Given the description of an element on the screen output the (x, y) to click on. 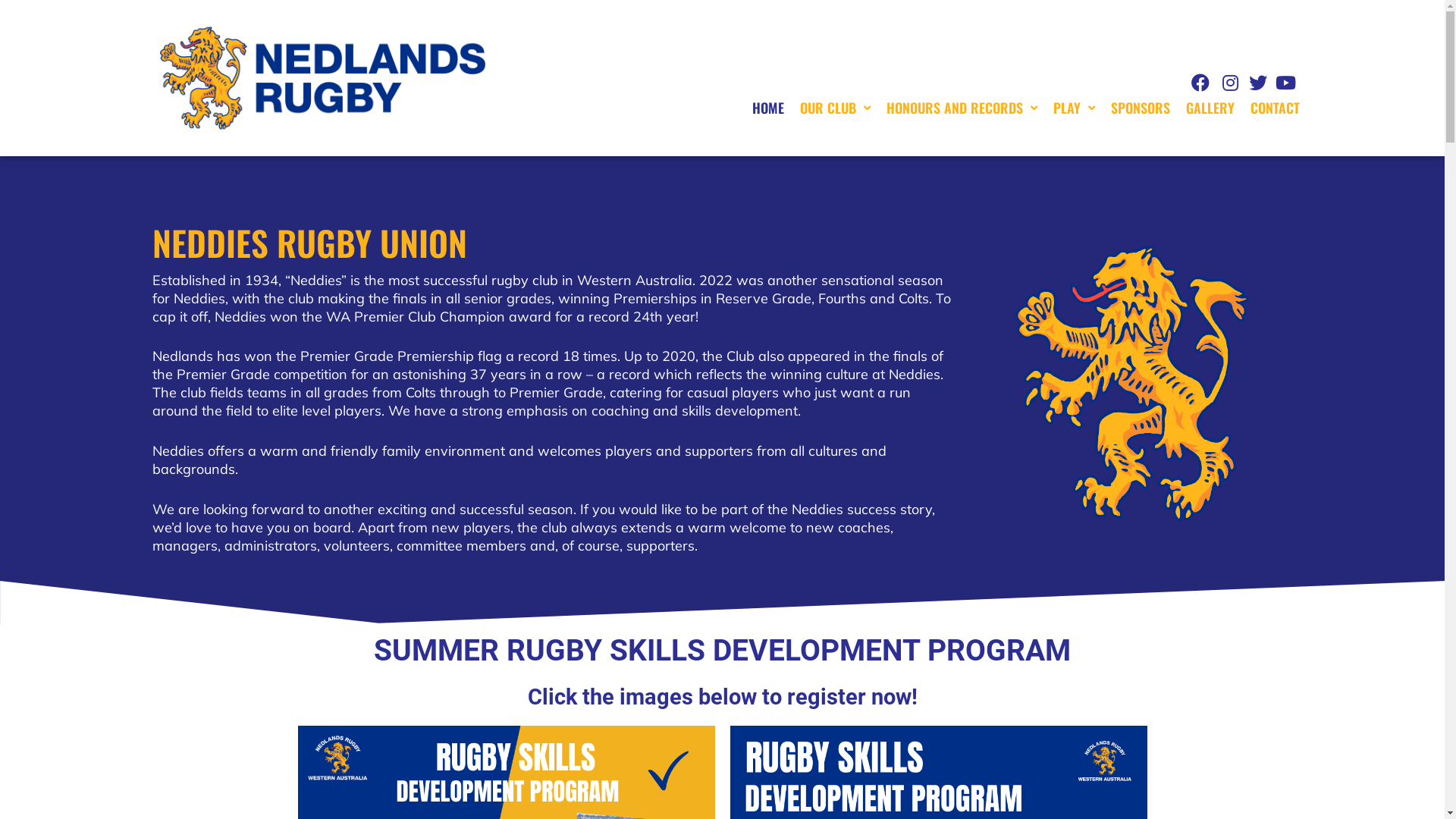
HOME Element type: text (768, 107)
OUR CLUB Element type: text (835, 107)
CONTACT Element type: text (1274, 107)
PLAY Element type: text (1074, 107)
HONOURS AND RECORDS Element type: text (961, 107)
GALLERY Element type: text (1210, 107)
SPONSORS Element type: text (1140, 107)
